Given the description of an element on the screen output the (x, y) to click on. 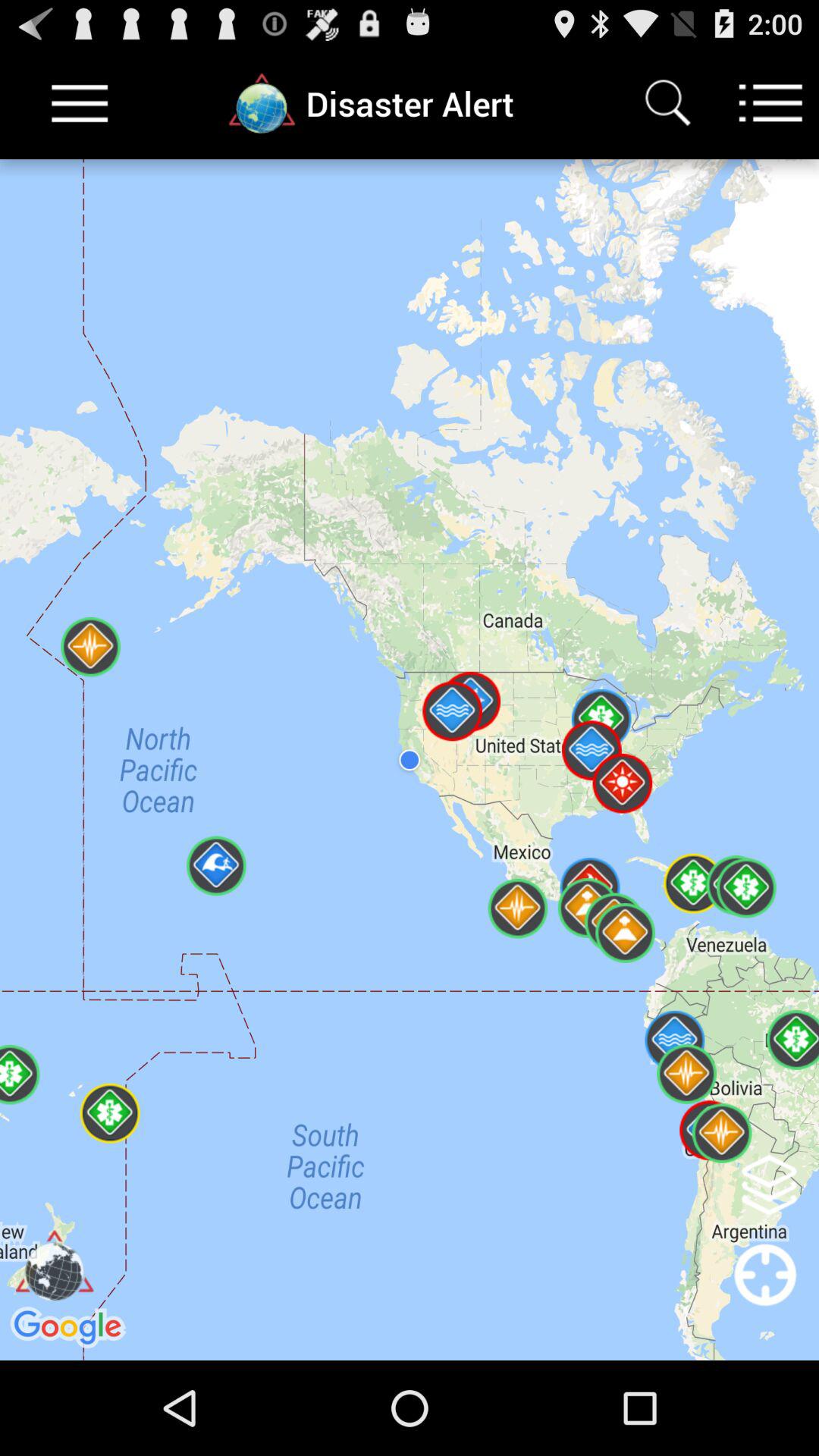
search for a location in the app (667, 102)
